Given the description of an element on the screen output the (x, y) to click on. 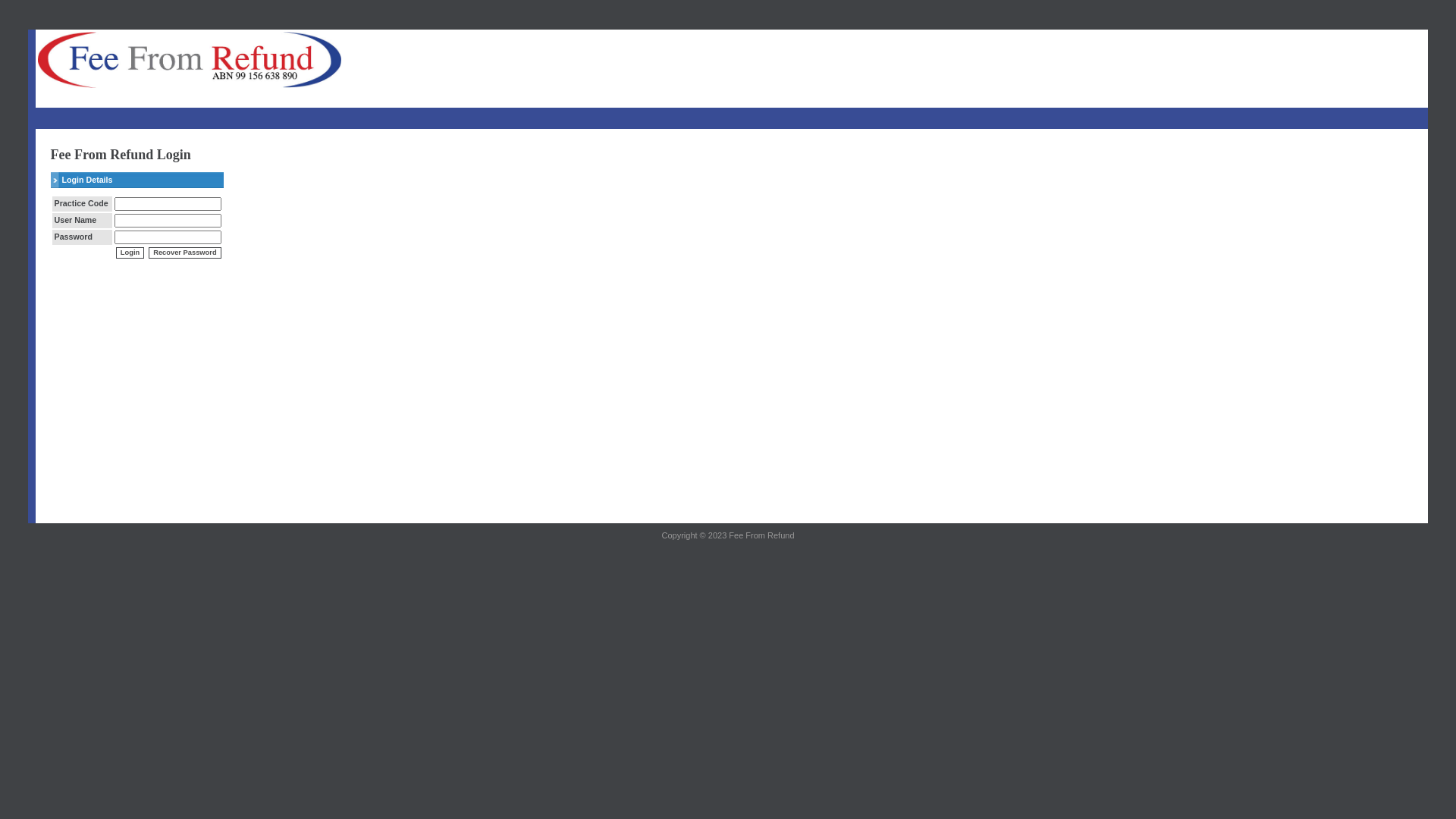
Recover Password Element type: text (184, 252)
Login Element type: text (130, 252)
